Given the description of an element on the screen output the (x, y) to click on. 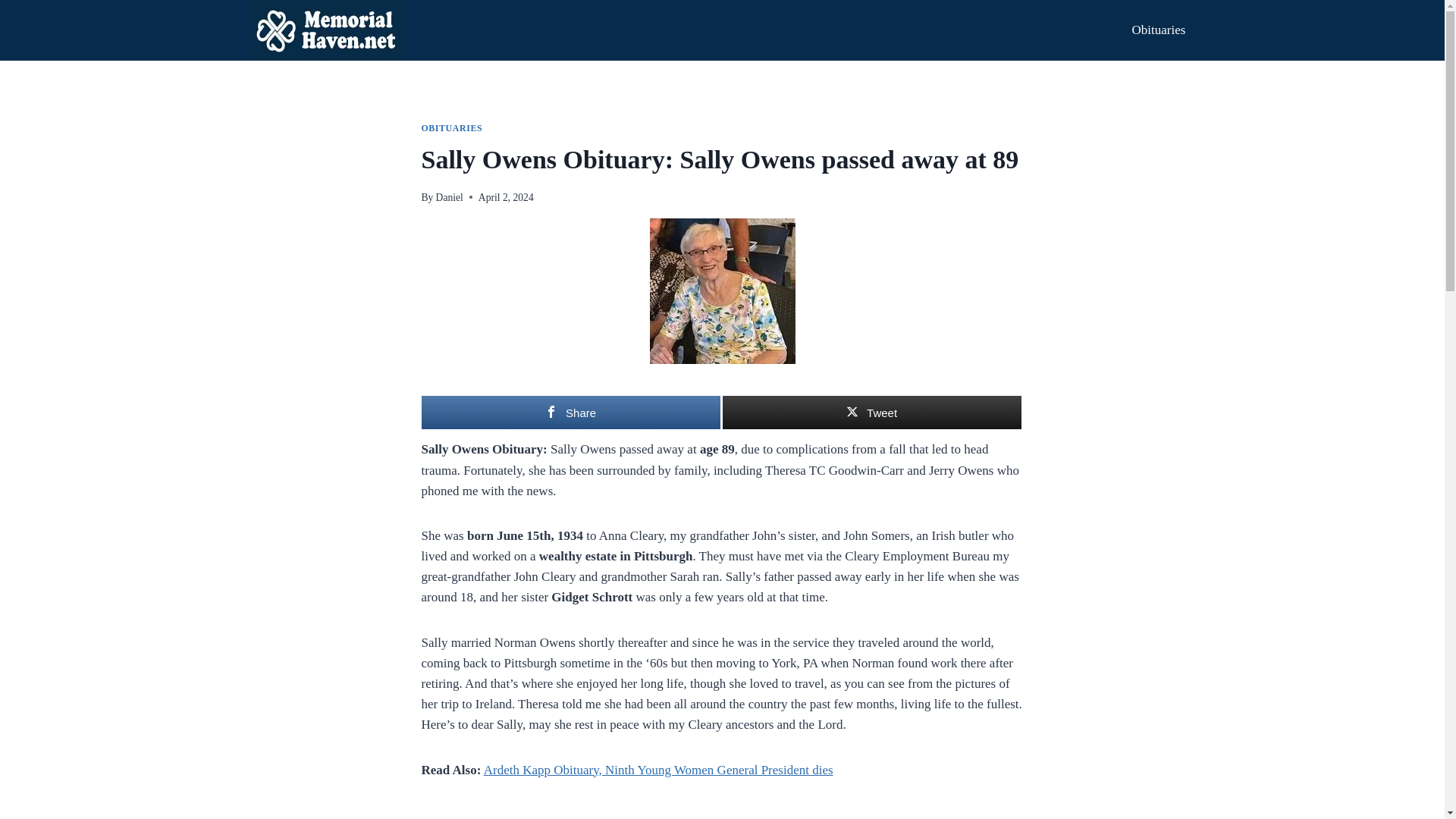
OBITUARIES (452, 127)
Tweet (871, 412)
Share (571, 412)
Daniel (449, 197)
Obituaries (1158, 30)
